Given the description of an element on the screen output the (x, y) to click on. 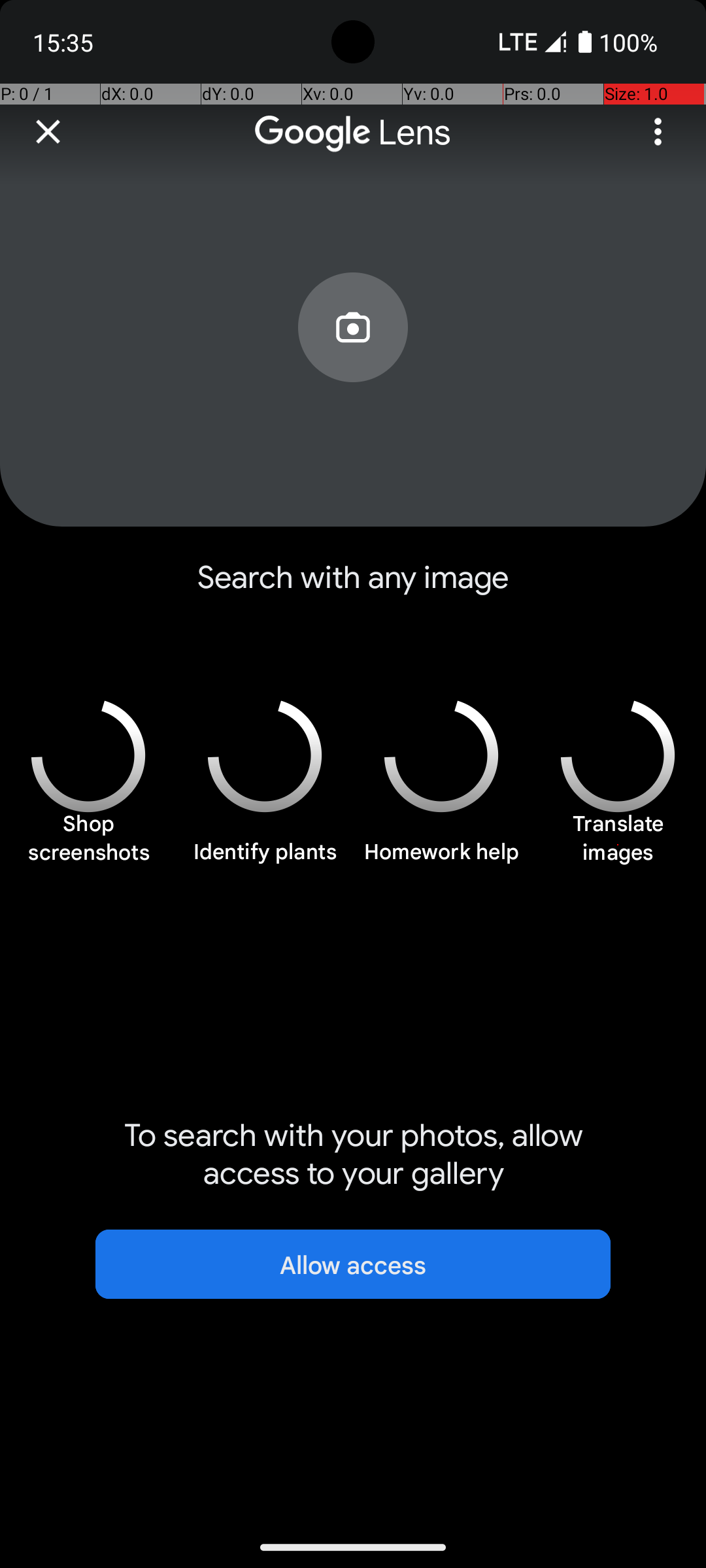
Search with your camera Element type: android.widget.FrameLayout (353, 356)
Search with any image Element type: android.widget.TextView (353, 587)
Shop screenshots Element type: android.widget.TextView (88, 844)
Identify plants Element type: android.widget.TextView (264, 858)
Homework help Element type: android.widget.TextView (441, 858)
Translate images Element type: android.widget.TextView (617, 844)
To search with your photos, allow access to your gallery Element type: android.widget.TextView (352, 1153)
Allow access Element type: android.widget.Button (352, 1264)
